Given the description of an element on the screen output the (x, y) to click on. 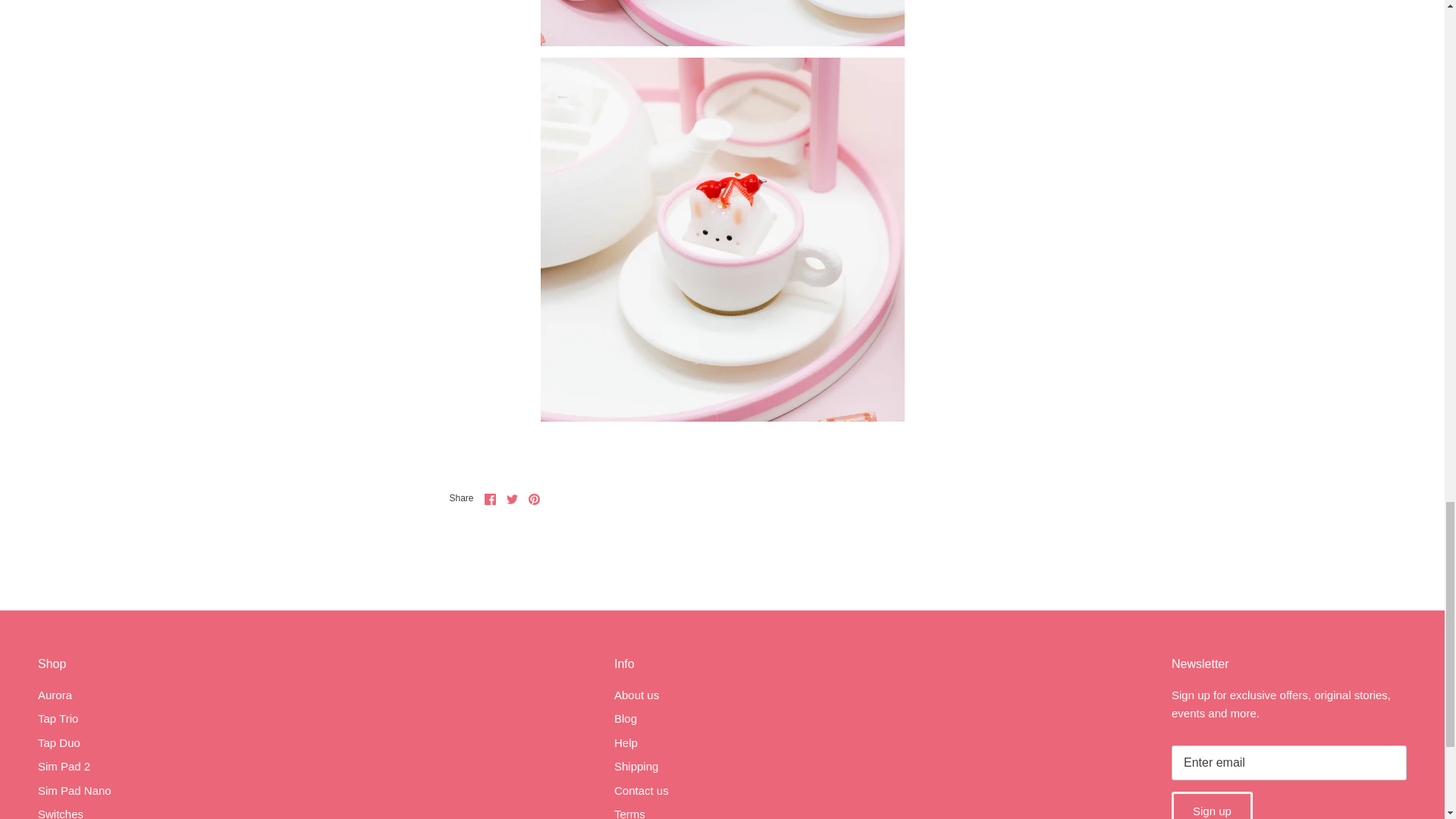
Facebook (490, 499)
Twitter (512, 499)
Pinterest (534, 499)
